Given the description of an element on the screen output the (x, y) to click on. 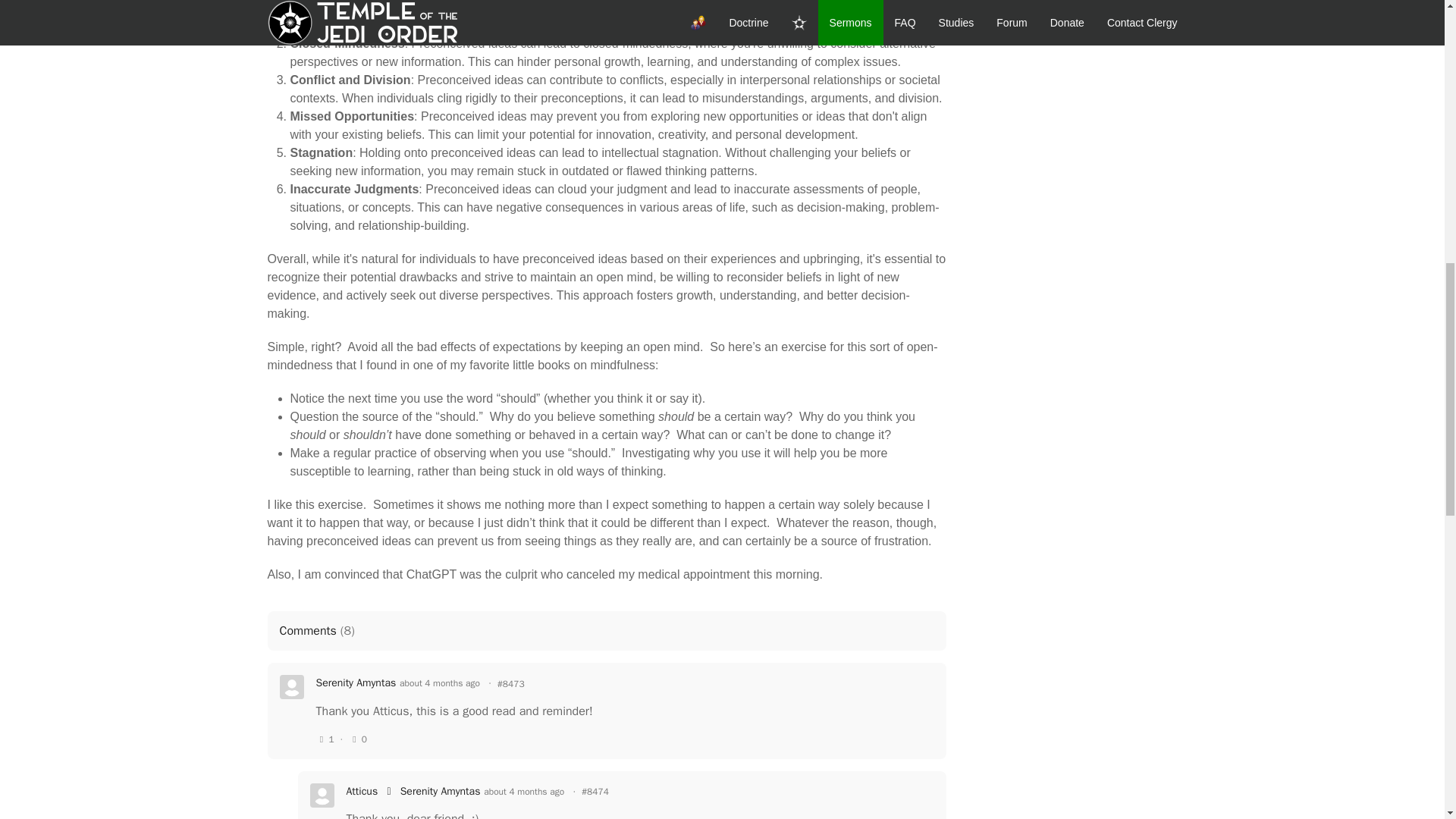
Serenity Amyntas (440, 791)
Permalink (594, 791)
1 (324, 739)
Permalink (510, 683)
Serenity Amyntas (355, 683)
Atticus (361, 791)
Atticus (361, 791)
Serenity Amyntas (355, 683)
0 (357, 739)
